Given the description of an element on the screen output the (x, y) to click on. 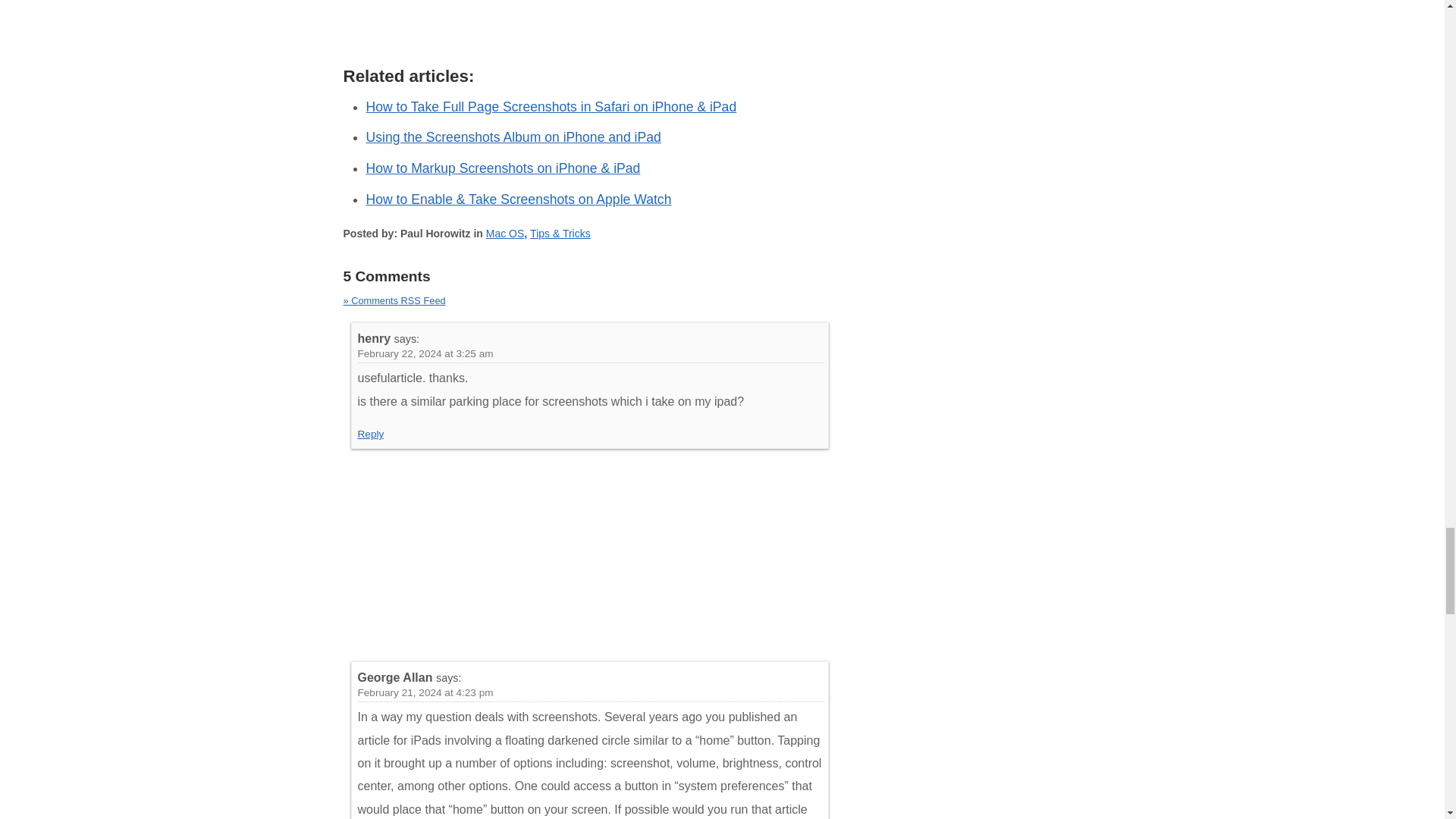
Mac OS (505, 233)
February 21, 2024 at 4:23 pm (425, 692)
February 22, 2024 at 3:25 am (425, 353)
Reply (371, 433)
Using the Screenshots Album on iPhone and iPad (513, 136)
